Given the description of an element on the screen output the (x, y) to click on. 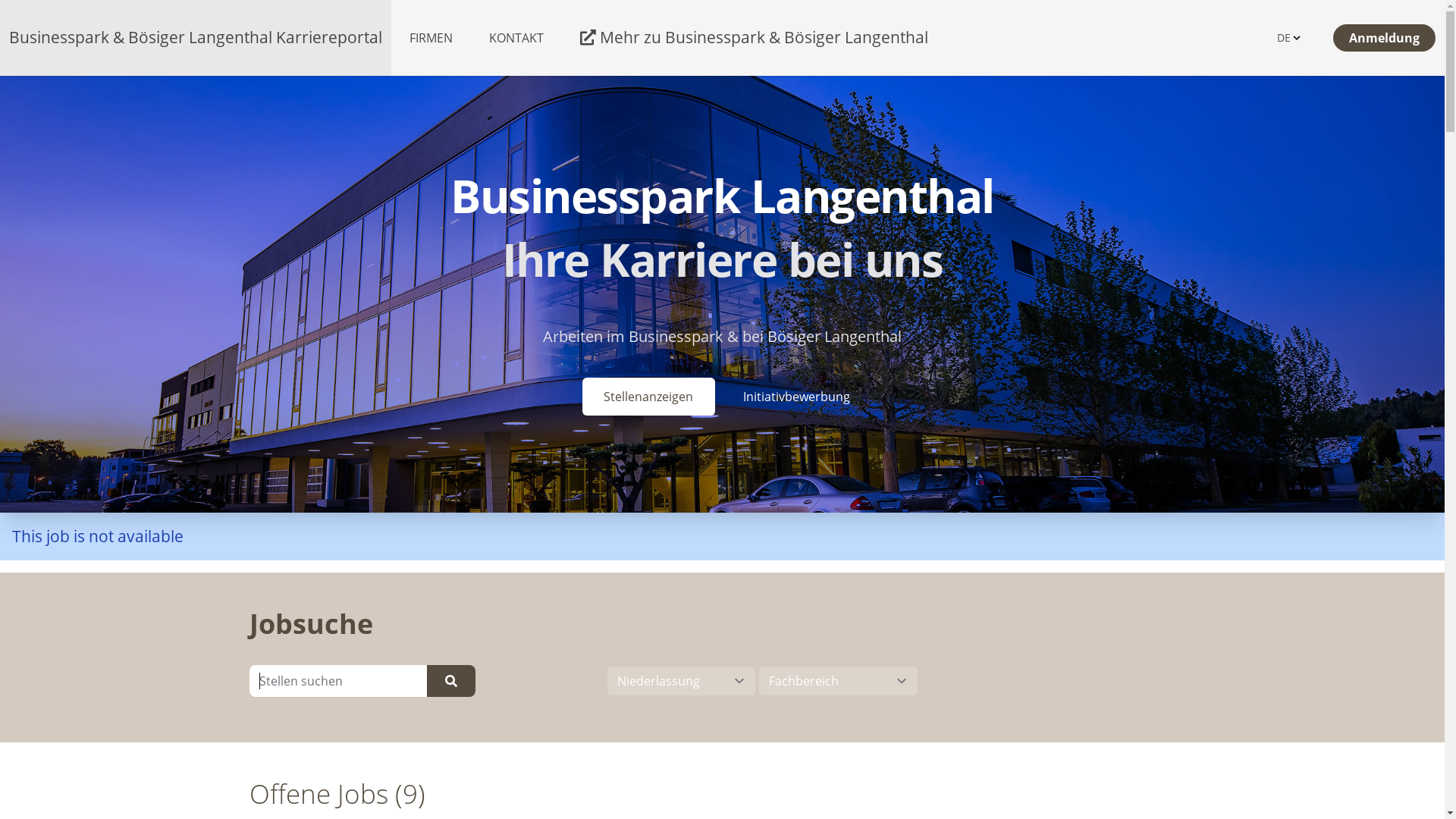
Anmeldung Element type: text (1384, 37)
KONTAKT Element type: text (516, 37)
Initiativbewerbung Element type: text (795, 396)
Stellenanzeigen Element type: text (648, 396)
FIRMEN Element type: text (430, 37)
